Given the description of an element on the screen output the (x, y) to click on. 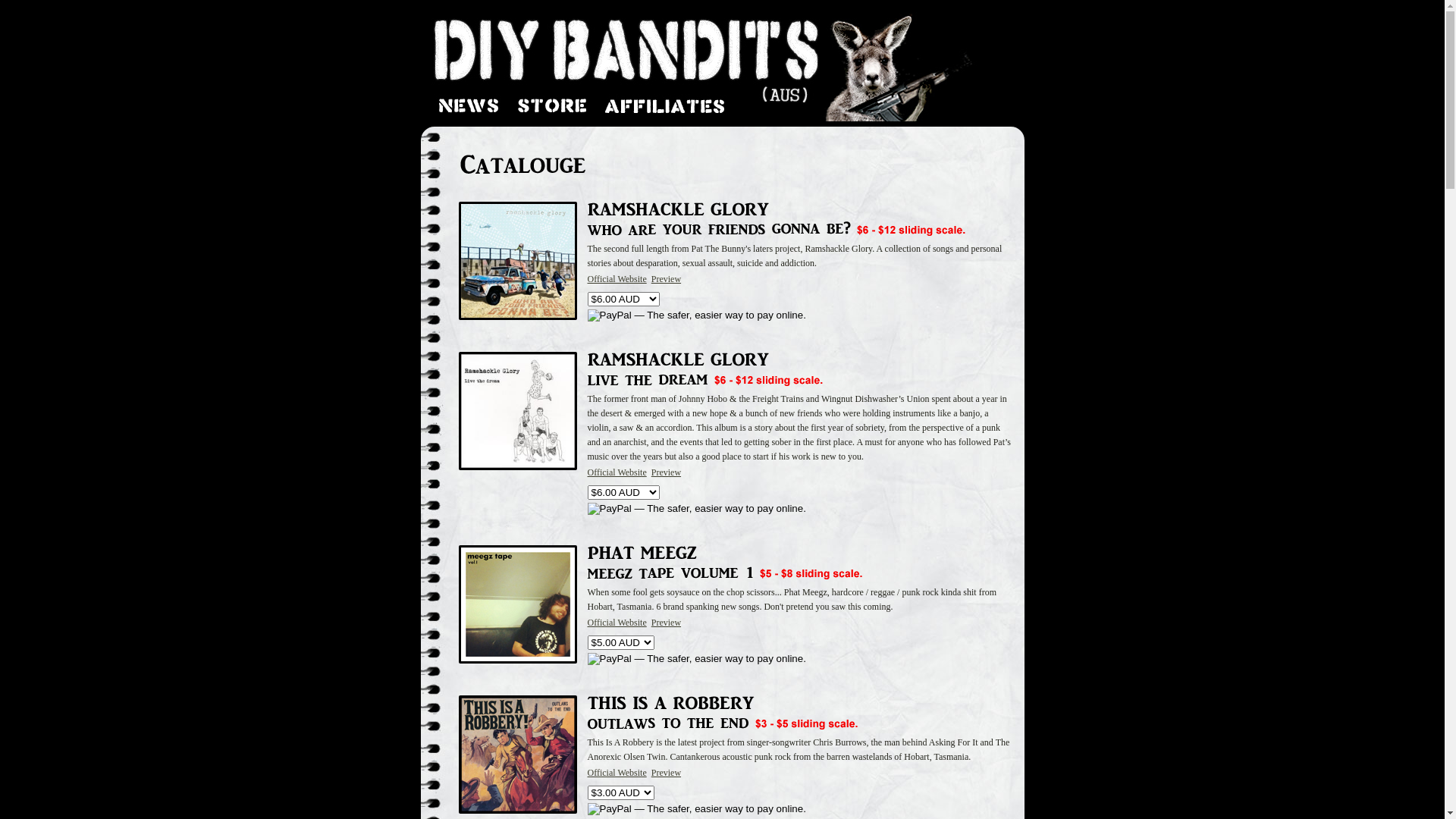
Preview Element type: text (665, 622)
Preview Element type: text (665, 278)
Official Website Element type: text (616, 472)
Official Website Element type: text (616, 772)
Preview Element type: text (665, 472)
Official Website Element type: text (616, 622)
Preview Element type: text (665, 772)
Official Website Element type: text (616, 278)
